Given the description of an element on the screen output the (x, y) to click on. 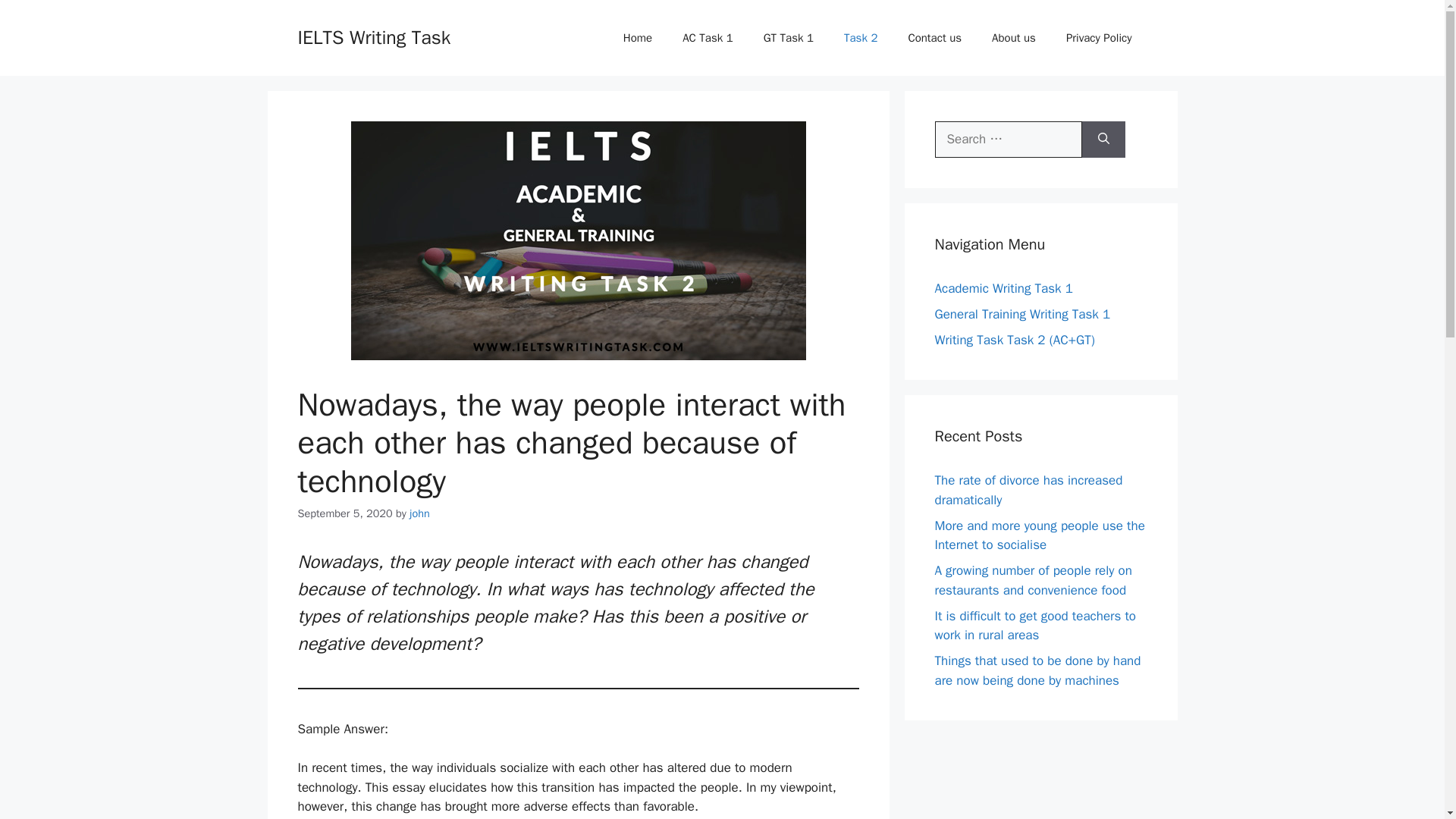
Academic Writing Task 1 (1002, 288)
It is difficult to get good teachers to work in rural areas (1034, 625)
AC Task 1 (707, 37)
GT Task 1 (788, 37)
Search for: (1007, 139)
More and more young people use the Internet to socialise (1039, 534)
View all posts by john (419, 513)
Home (637, 37)
IELTS Writing Task (373, 37)
General Training Writing Task 1 (1021, 314)
About us (1013, 37)
Privacy Policy (1099, 37)
john (419, 513)
